Given the description of an element on the screen output the (x, y) to click on. 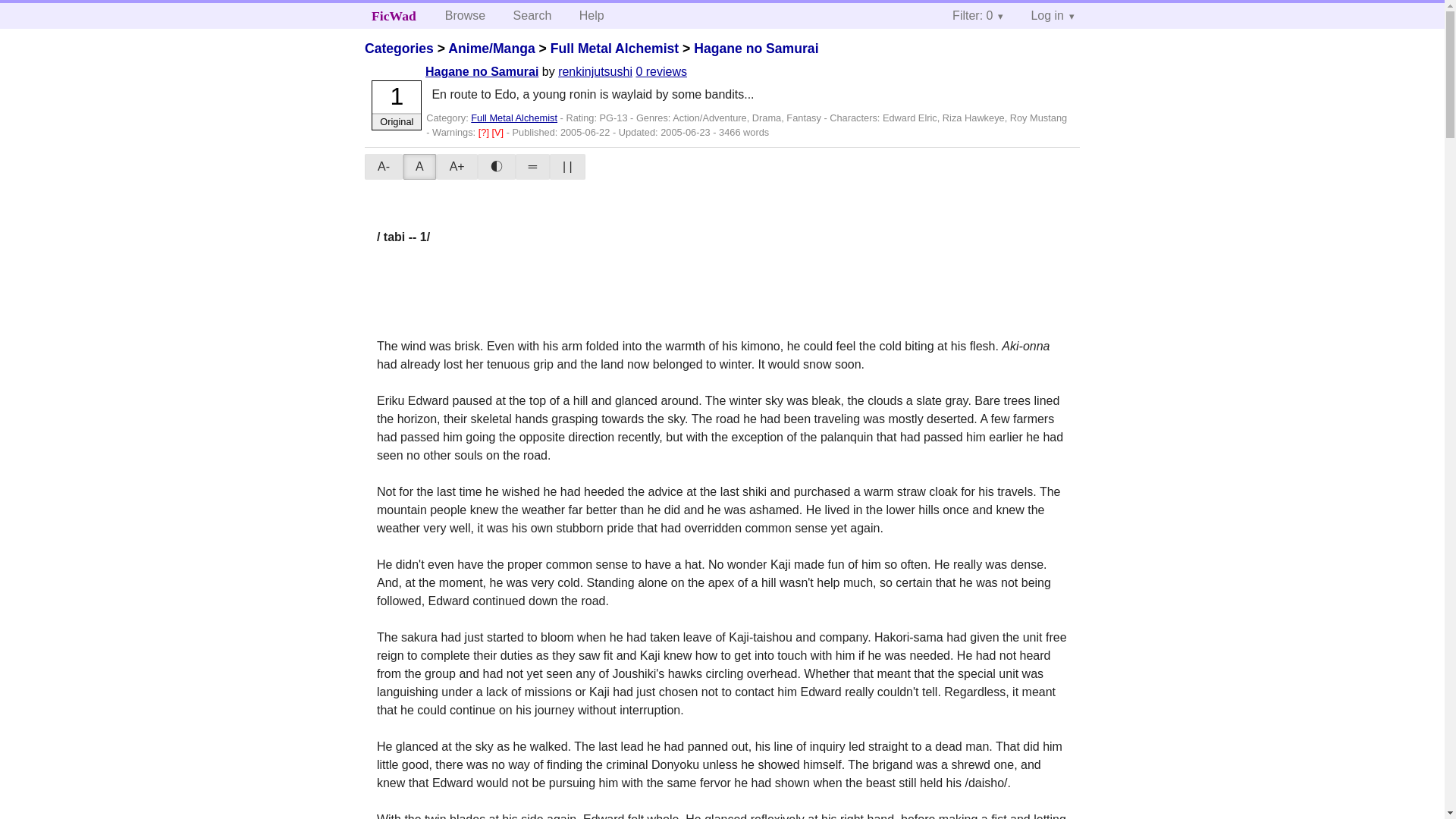
Violence (499, 132)
A (419, 166)
FicWad (393, 15)
Full Metal Alchemist (513, 117)
Full Metal Alchemist (614, 48)
Filter: 0 (977, 15)
0 reviews (660, 71)
Help (591, 15)
Hagane no Samurai (481, 71)
Hagane no Samurai (756, 48)
Categories (399, 48)
fresh-picked original and fan fiction (393, 15)
renkinjutsushi (594, 71)
Log in (1051, 15)
A- (384, 166)
